Given the description of an element on the screen output the (x, y) to click on. 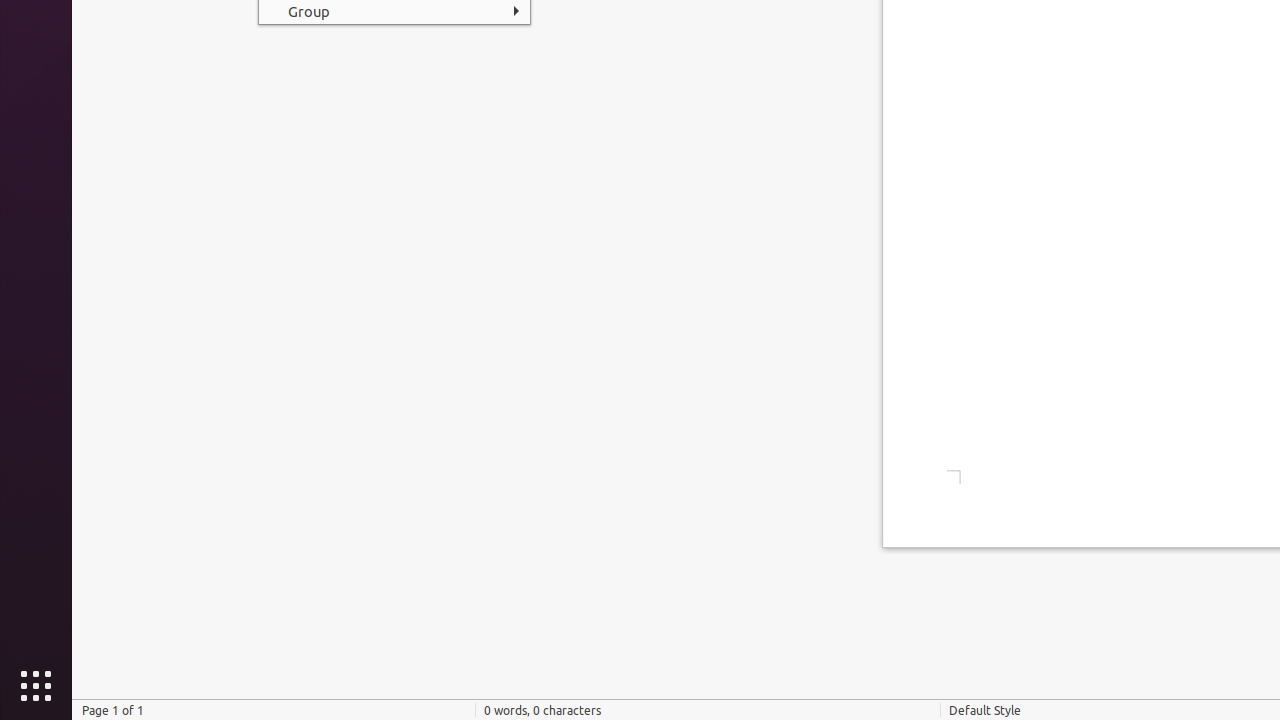
Show Applications Element type: toggle-button (36, 686)
